Given the description of an element on the screen output the (x, y) to click on. 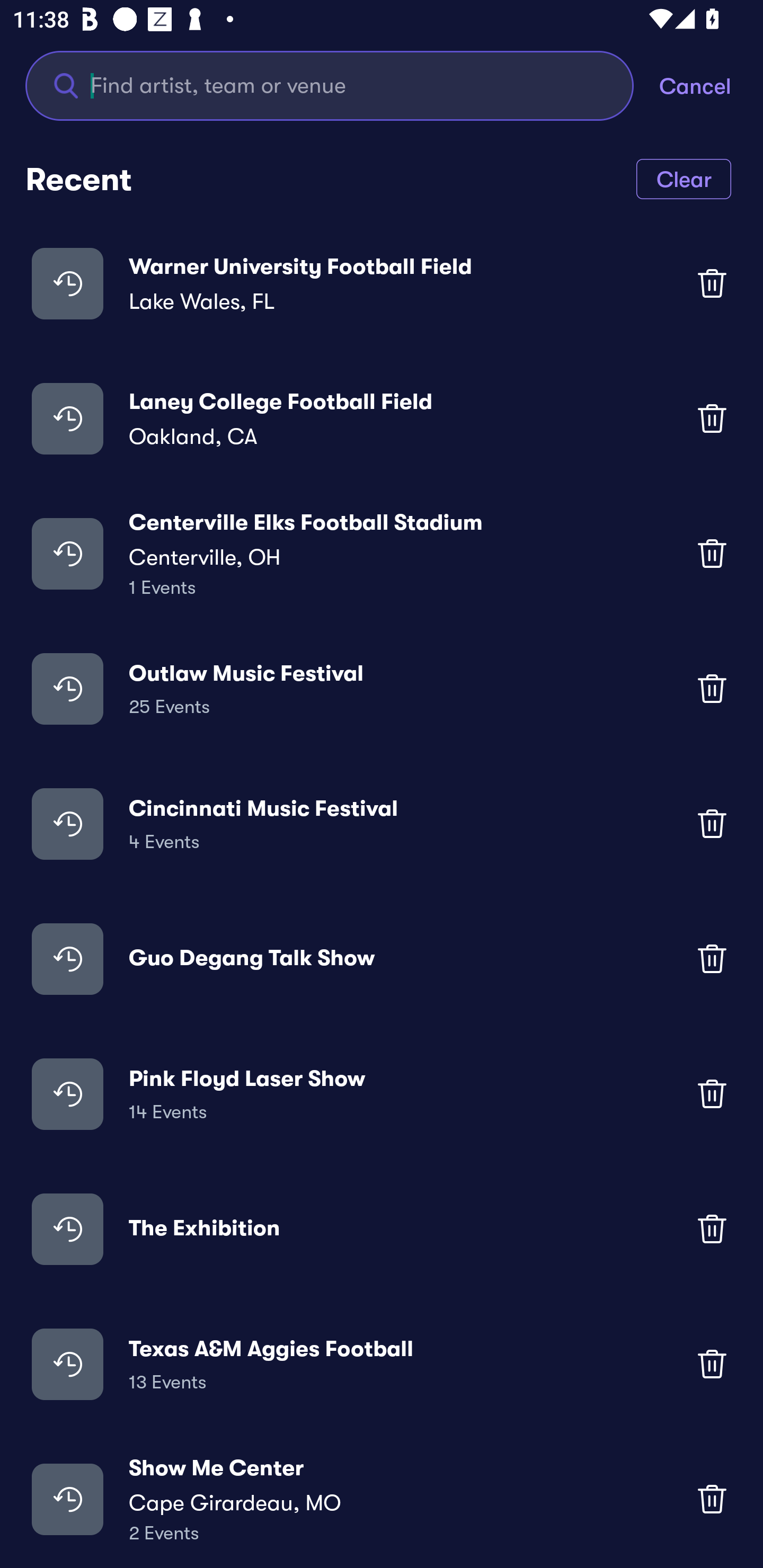
Cancel (711, 85)
Find artist, team or venue Find (329, 85)
Find artist, team or venue Find (341, 85)
Clear (683, 178)
Warner University Football Field Lake Wales, FL (381, 282)
Laney College Football Field Oakland, CA (381, 417)
Outlaw Music Festival 25 Events (381, 688)
Cincinnati Music Festival 4 Events (381, 823)
Guo Degang Talk Show (381, 958)
Pink Floyd Laser Show 14 Events (381, 1093)
The Exhibition (381, 1228)
Texas A&M Aggies Football 13 Events (381, 1364)
Show Me Center Cape Girardeau, MO 2 Events (381, 1498)
